Given the description of an element on the screen output the (x, y) to click on. 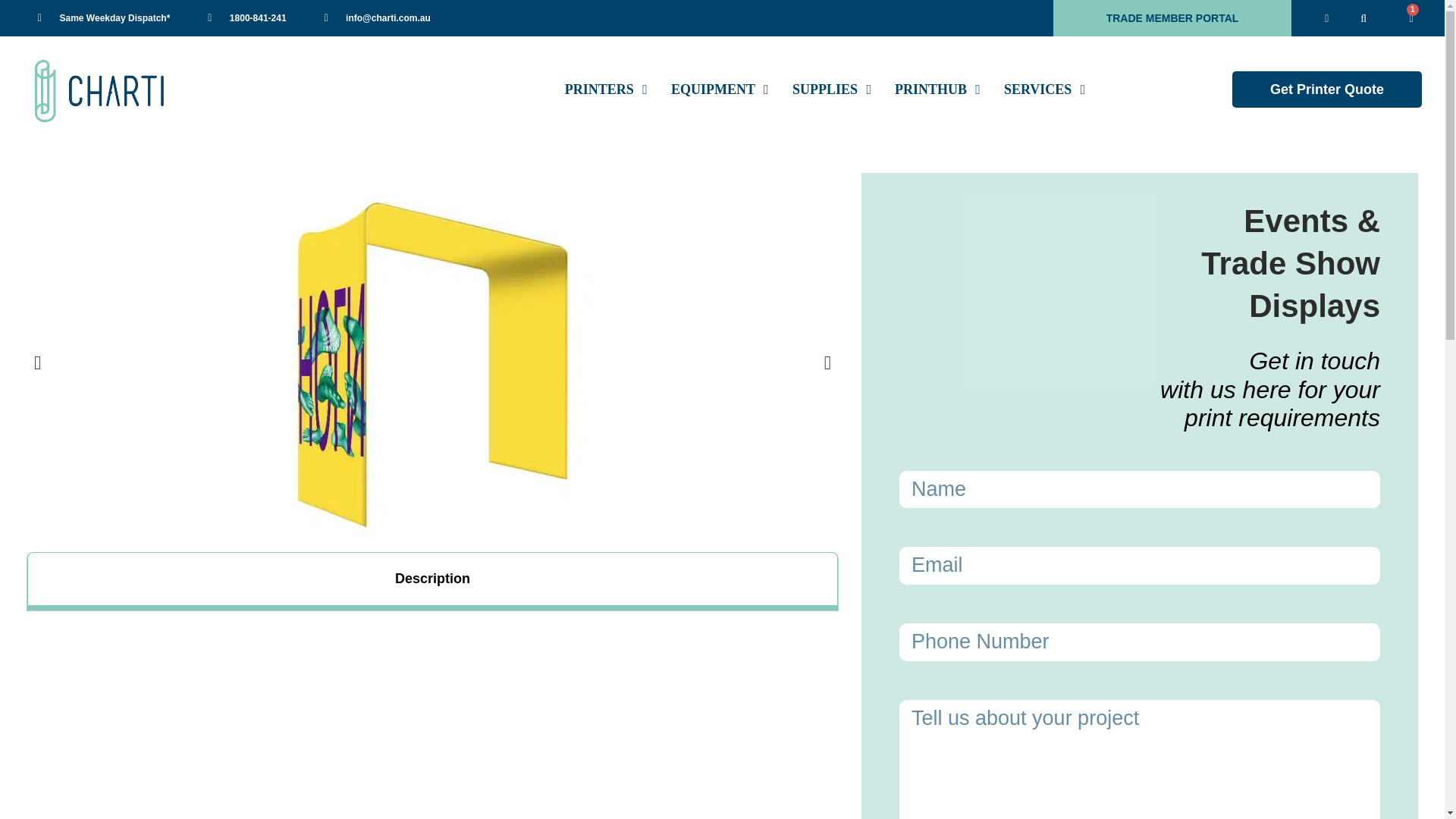
PRINTERS (600, 89)
EQUIPMENT (714, 89)
TRADE MEMBER PORTAL (1171, 18)
SUPPLIES (826, 89)
1800-841-241 (246, 17)
